Given the description of an element on the screen output the (x, y) to click on. 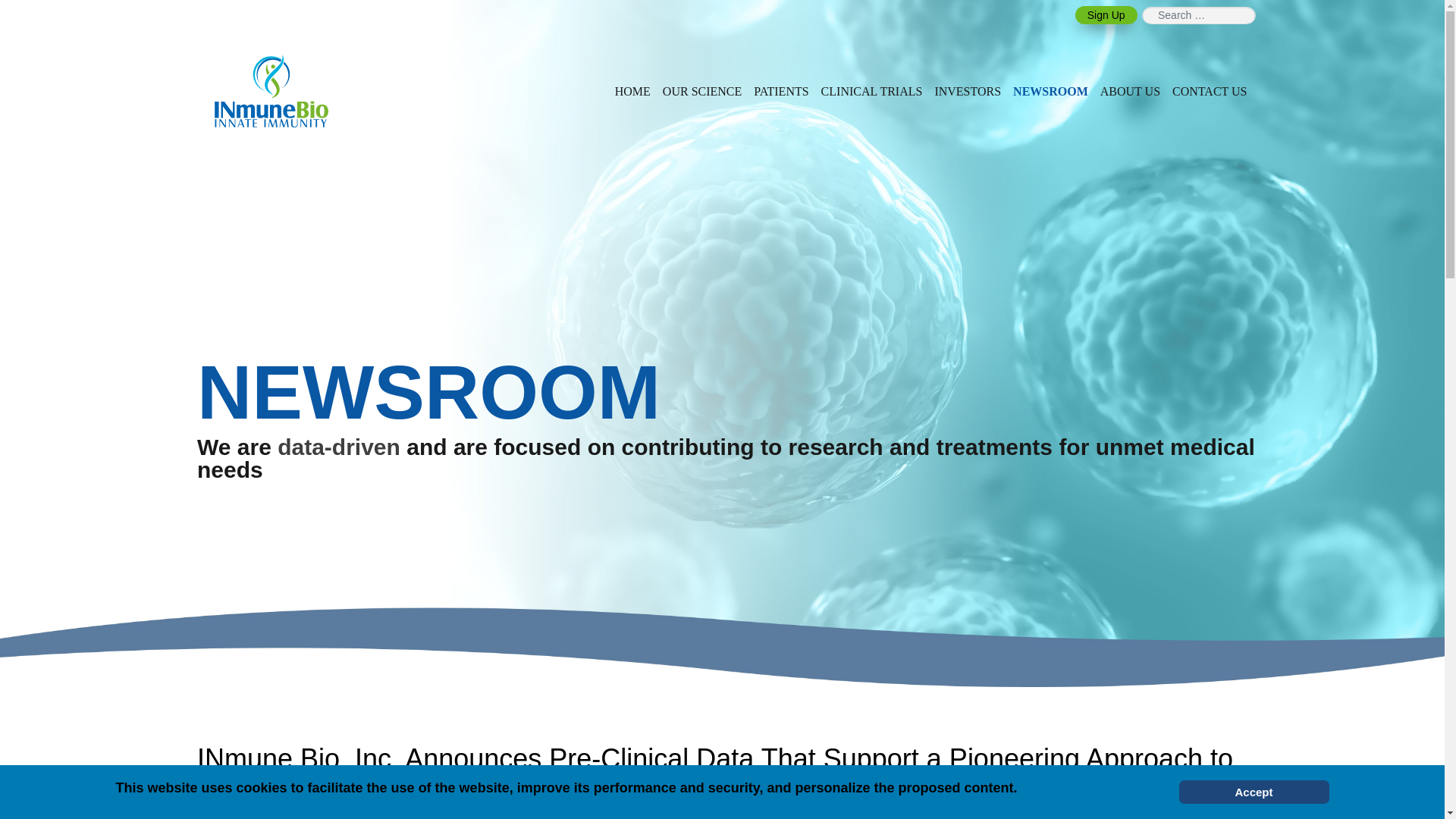
NEWSROOM (1050, 90)
Sign Up (1106, 15)
ABOUT US (1130, 90)
inmunebio (270, 90)
PATIENTS (780, 90)
HOME (632, 90)
CLINICAL TRIALS (871, 90)
CONTACT US (1209, 90)
INVESTORS (967, 90)
OUR SCIENCE (702, 90)
